Given the description of an element on the screen output the (x, y) to click on. 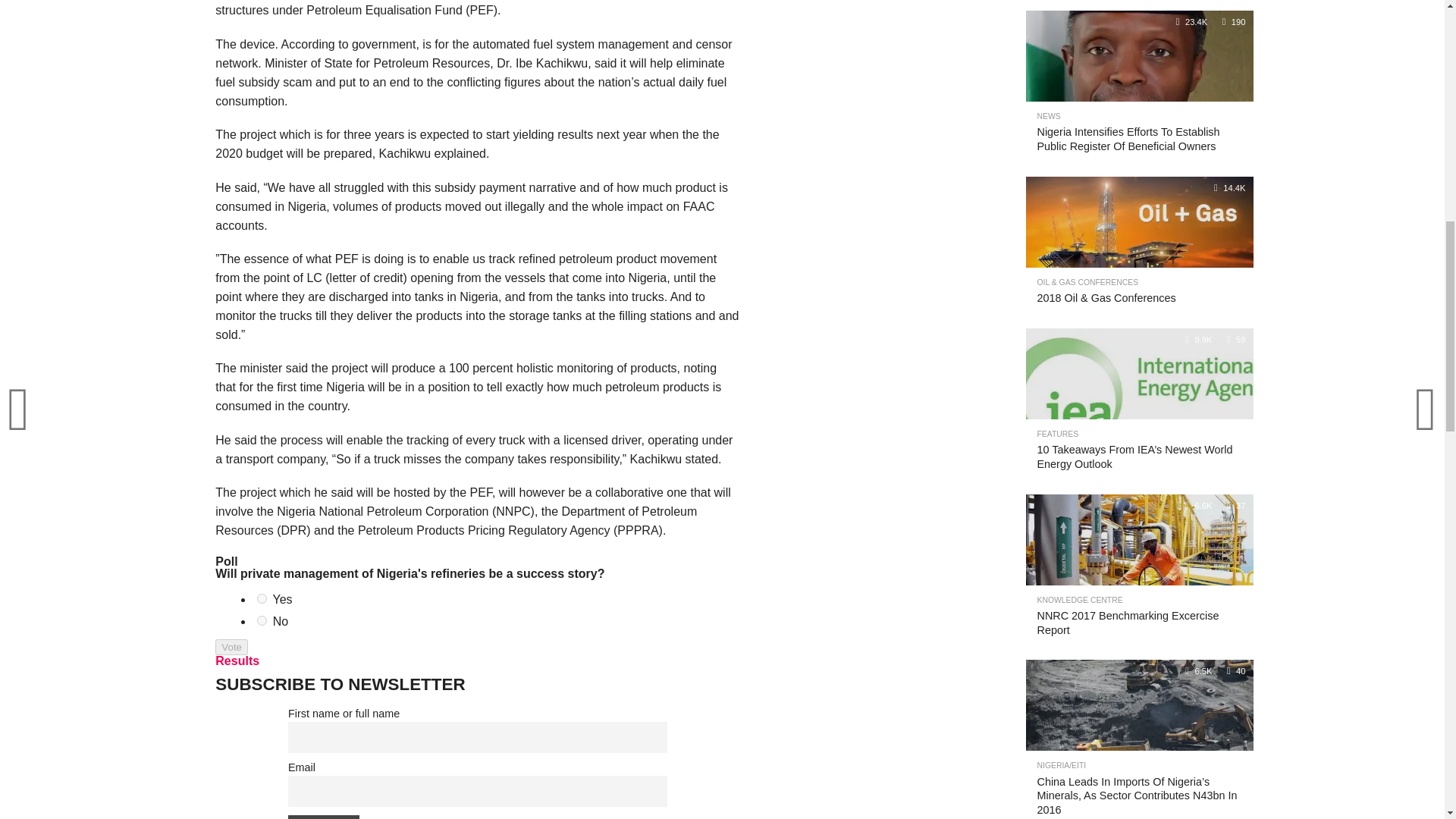
Vote (231, 647)
7 (261, 620)
6 (261, 598)
Subscribe (323, 816)
